Given the description of an element on the screen output the (x, y) to click on. 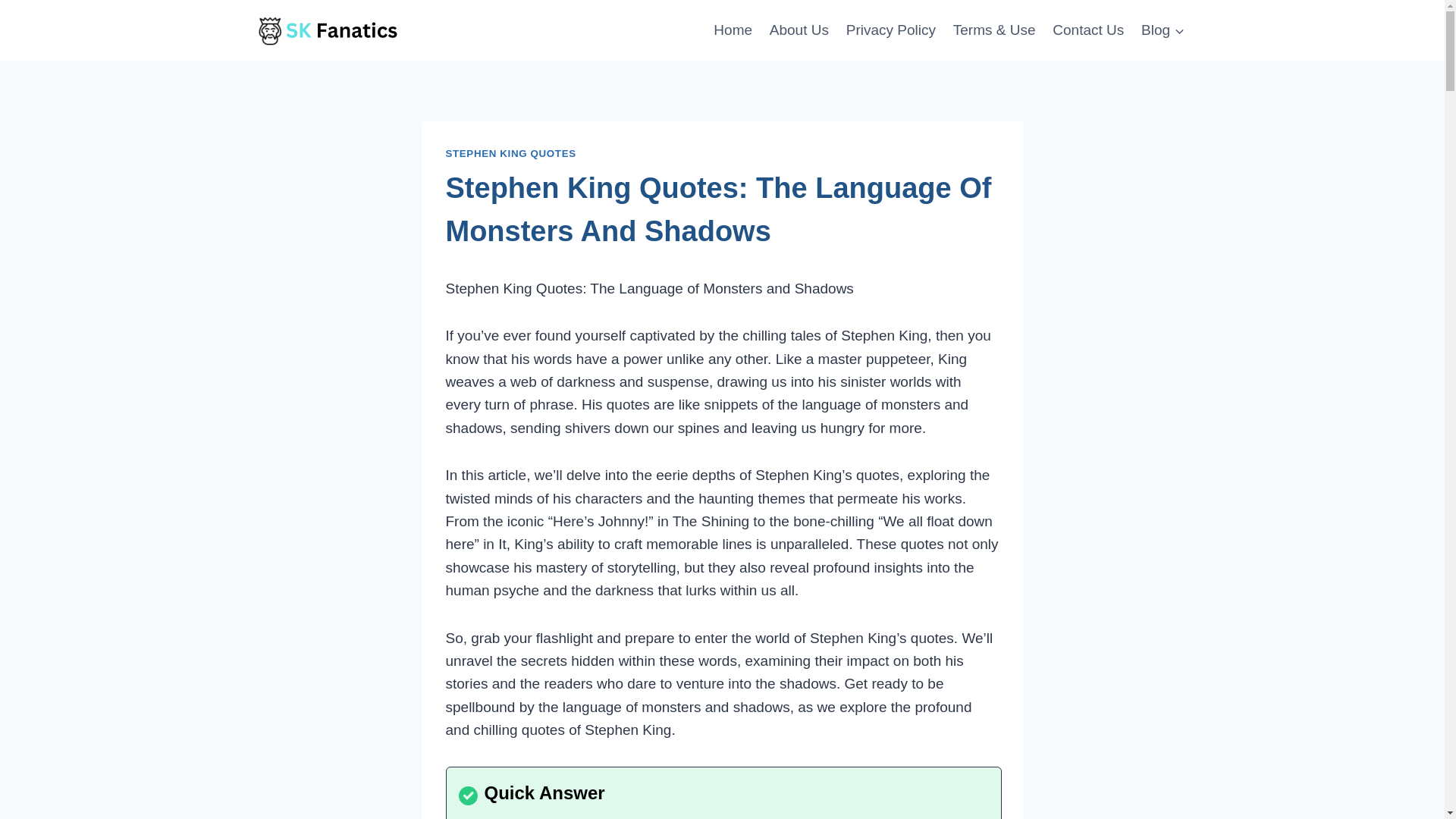
Contact Us (1087, 29)
Home (732, 29)
Privacy Policy (890, 29)
About Us (798, 29)
STEPHEN KING QUOTES (510, 153)
Blog (1162, 29)
